Given the description of an element on the screen output the (x, y) to click on. 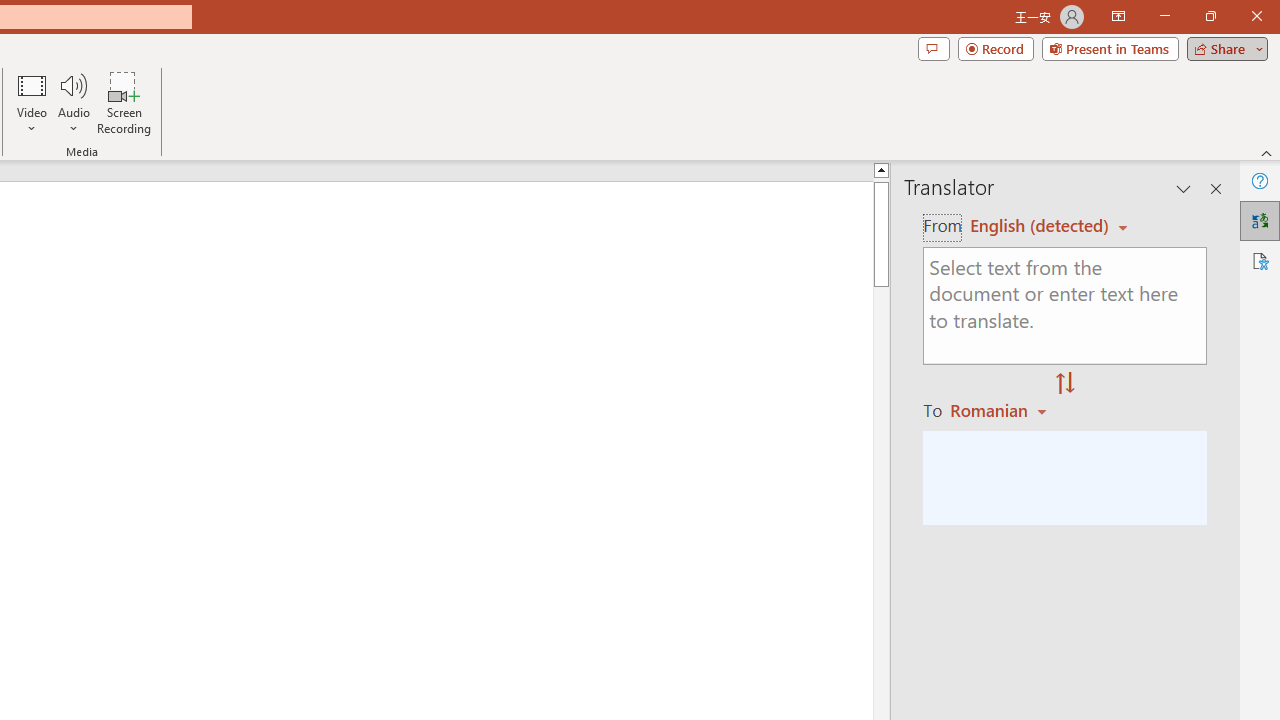
Romanian (1001, 409)
Video (31, 102)
Czech (detected) (1039, 225)
